Given the description of an element on the screen output the (x, y) to click on. 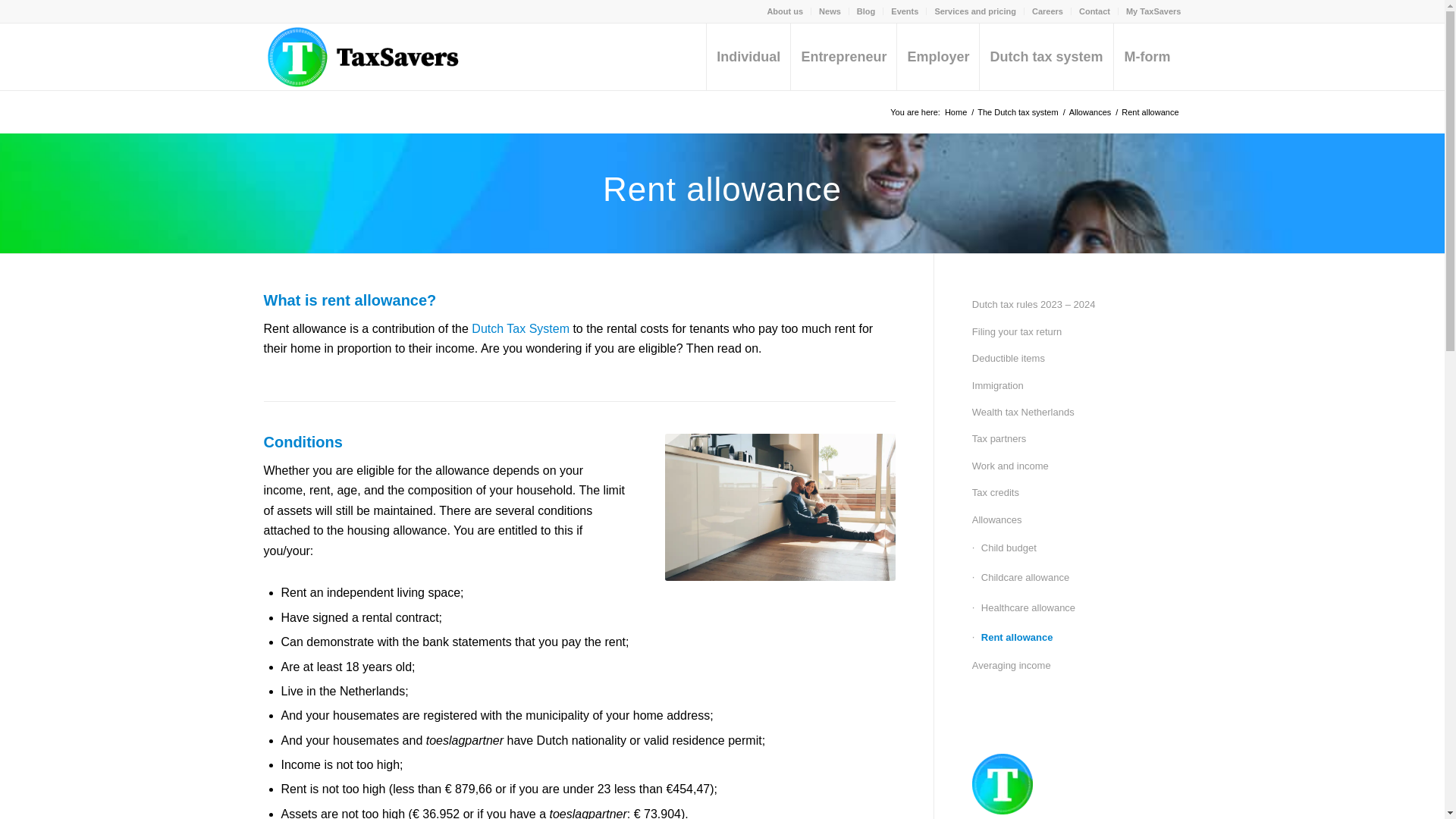
News (829, 11)
Contact (1093, 11)
Individual (748, 56)
My TaxSavers (1152, 11)
Careers (1047, 11)
Services and pricing (975, 11)
The TaxSavers (955, 112)
Home (955, 112)
Dutch tax system (1045, 56)
About us (785, 11)
Employer (937, 56)
The Dutch tax system (1017, 112)
TaxSavers-logo-2024 (389, 56)
Entrepreneur (843, 56)
Dutch Tax System (520, 328)
